Given the description of an element on the screen output the (x, y) to click on. 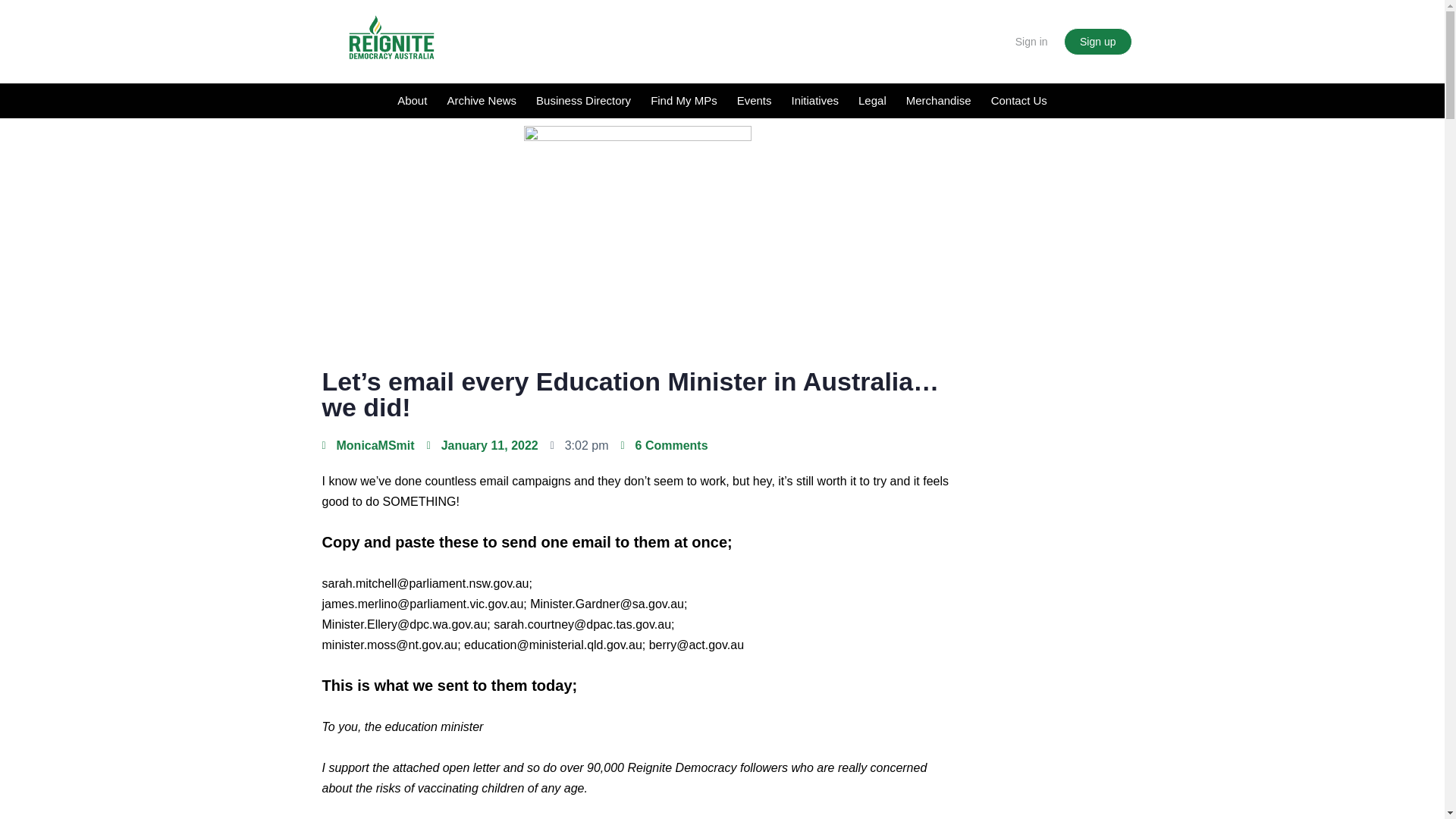
Sign up (1097, 41)
Archive News (480, 100)
Initiatives (814, 100)
Legal (872, 100)
Find My MPs (683, 100)
Sign in (1031, 41)
About (411, 100)
Events (753, 100)
Contact Us (1019, 100)
Merchandise (938, 100)
